Given the description of an element on the screen output the (x, y) to click on. 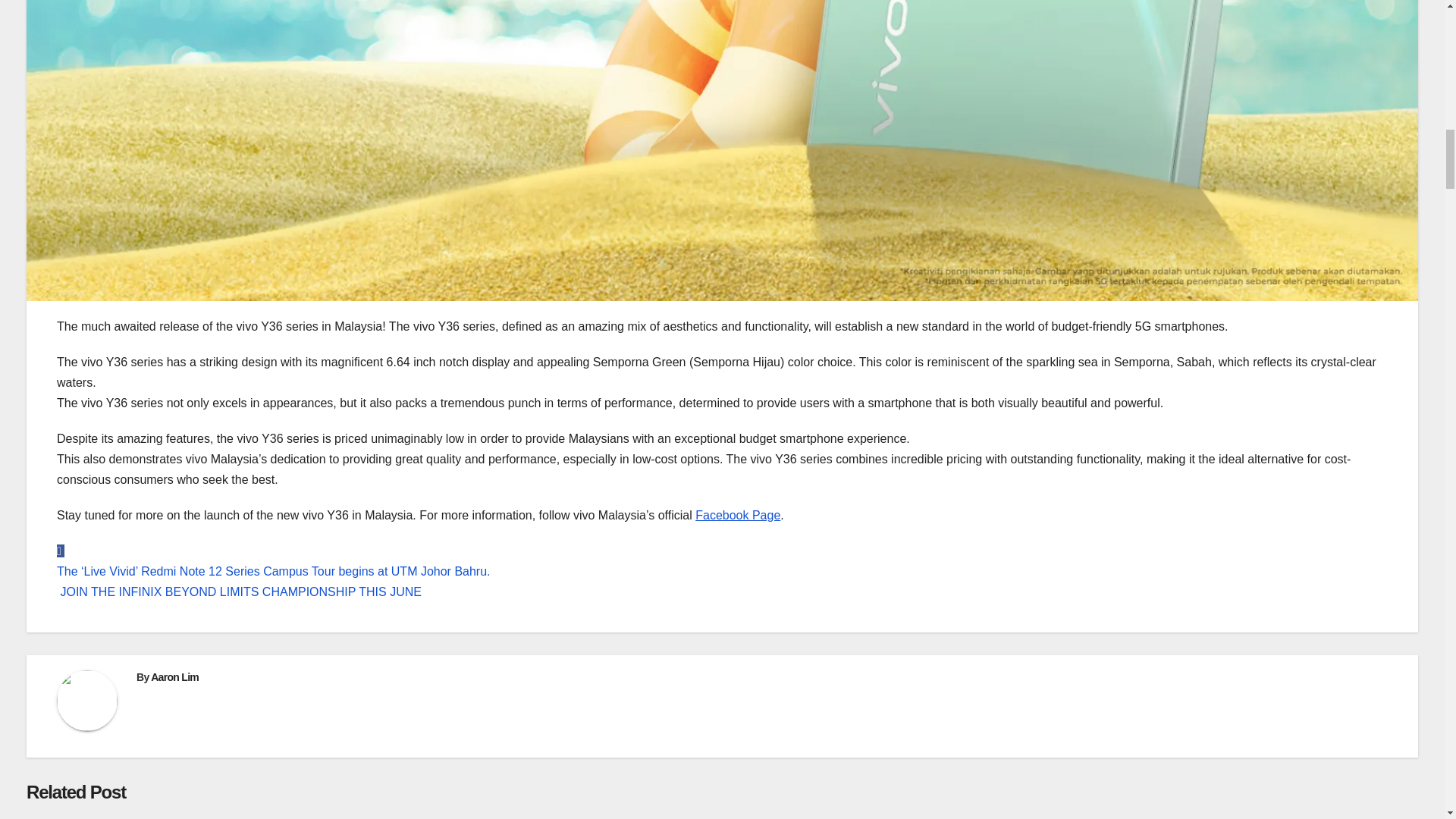
Facebook Page (736, 514)
